Given the description of an element on the screen output the (x, y) to click on. 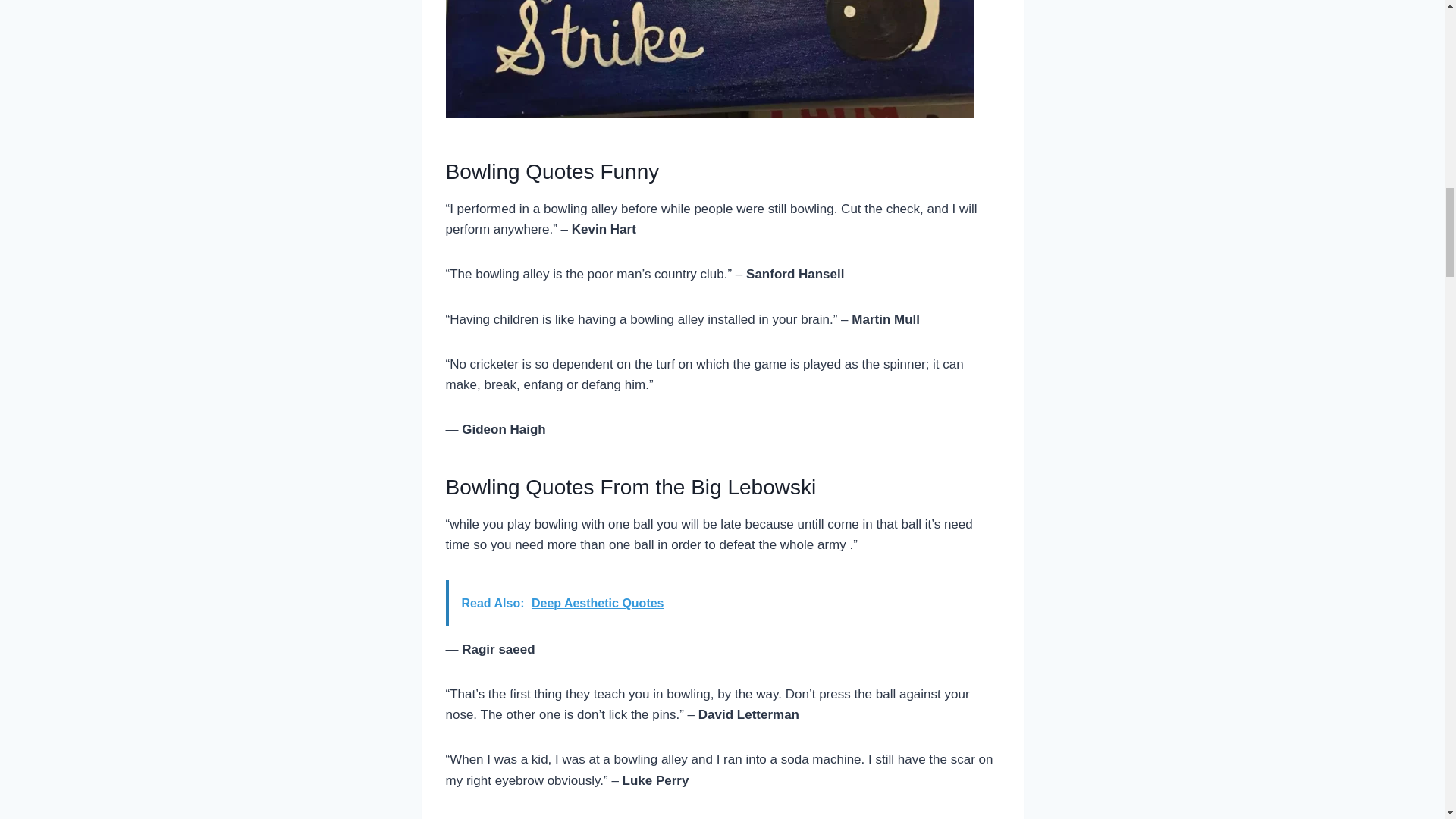
Bowling Quotes That Are Right Up Your Alley 2 (709, 58)
Read Also:  Deep Aesthetic Quotes (721, 602)
